Given the description of an element on the screen output the (x, y) to click on. 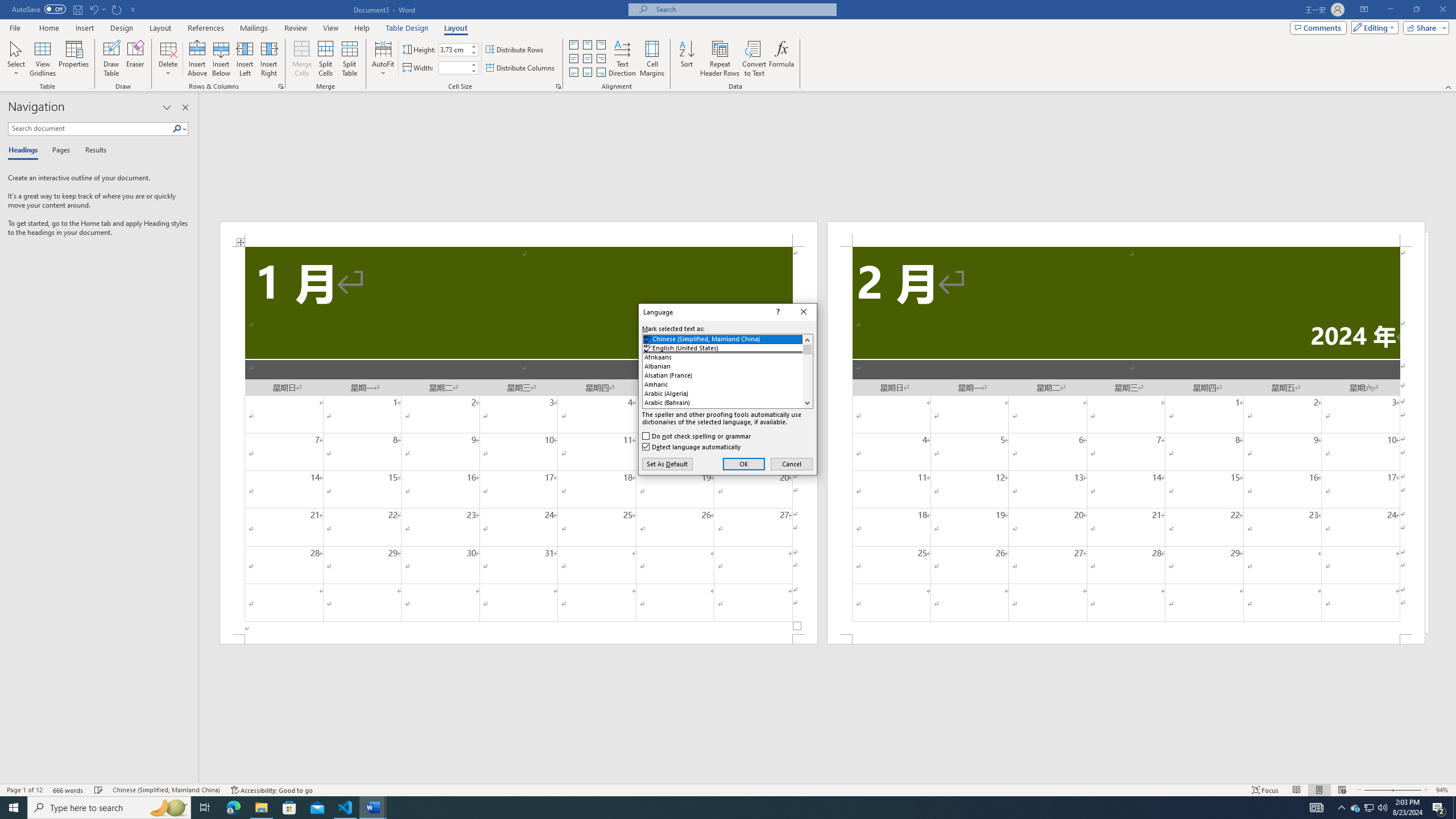
Search highlights icon opens search home window (167, 807)
Ribbon Display Options (1364, 9)
Print Layout (1318, 790)
Quick Access Toolbar (74, 9)
Context help (777, 312)
Table Column Width (453, 67)
More Options (103, 9)
Pages (59, 150)
Distribute Columns (521, 67)
Close (803, 312)
Search (177, 128)
Close pane (185, 107)
Table Design (407, 28)
